Given the description of an element on the screen output the (x, y) to click on. 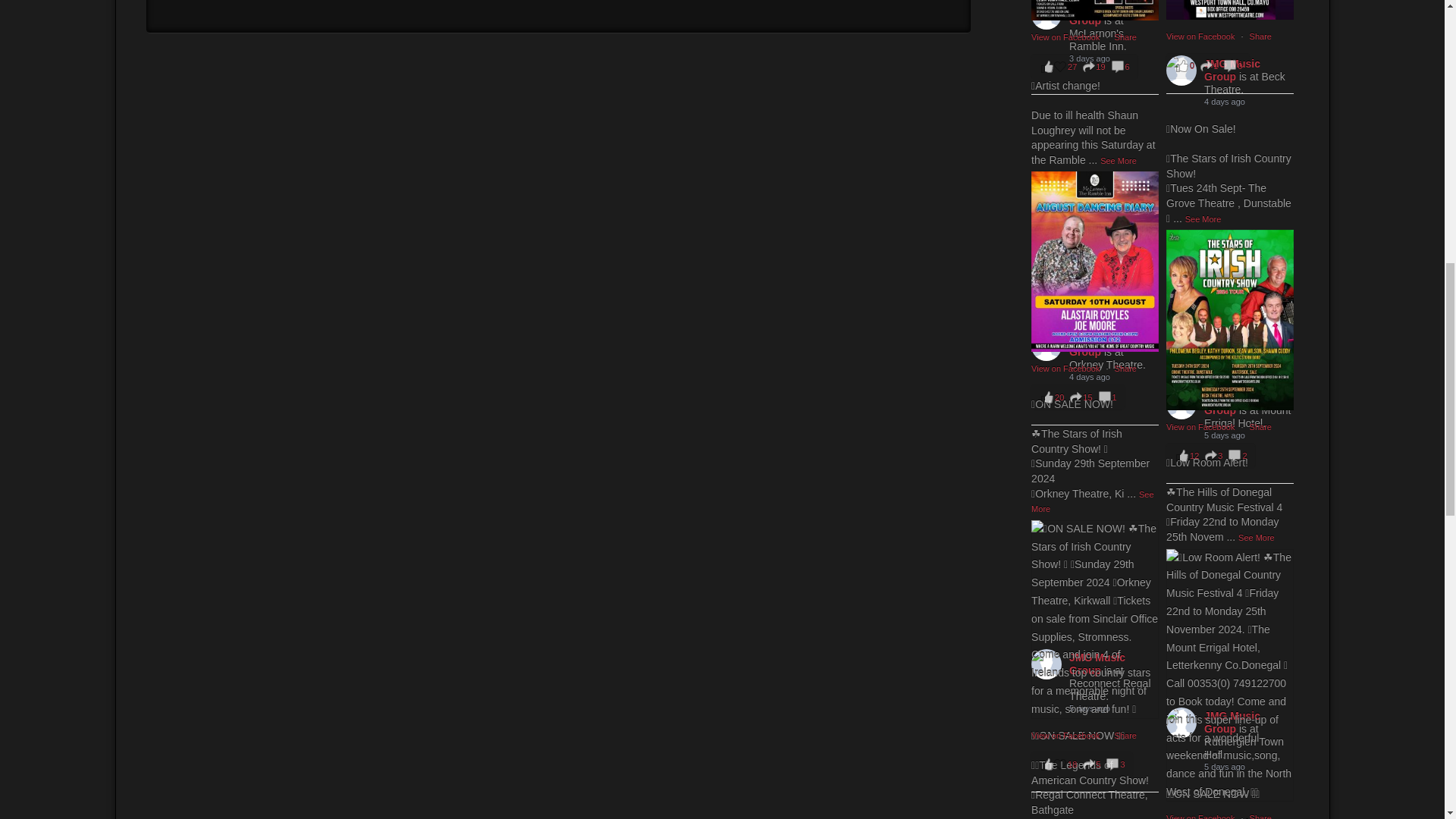
View on Facebook (1066, 368)
View on Facebook (1066, 36)
View on Facebook (1201, 35)
Share (1126, 36)
Share (1260, 35)
